Given the description of an element on the screen output the (x, y) to click on. 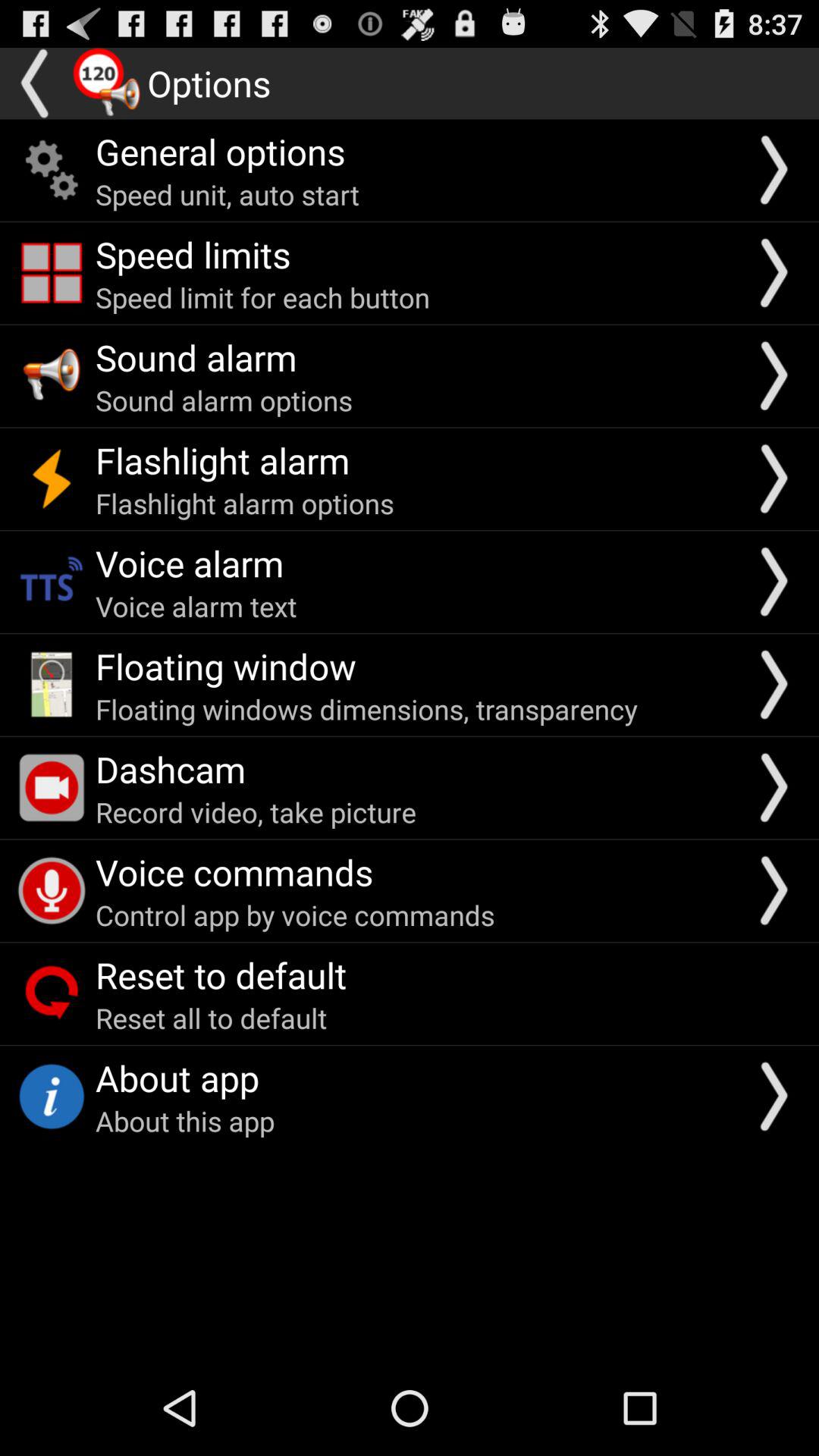
scroll until speed unit auto icon (227, 194)
